Given the description of an element on the screen output the (x, y) to click on. 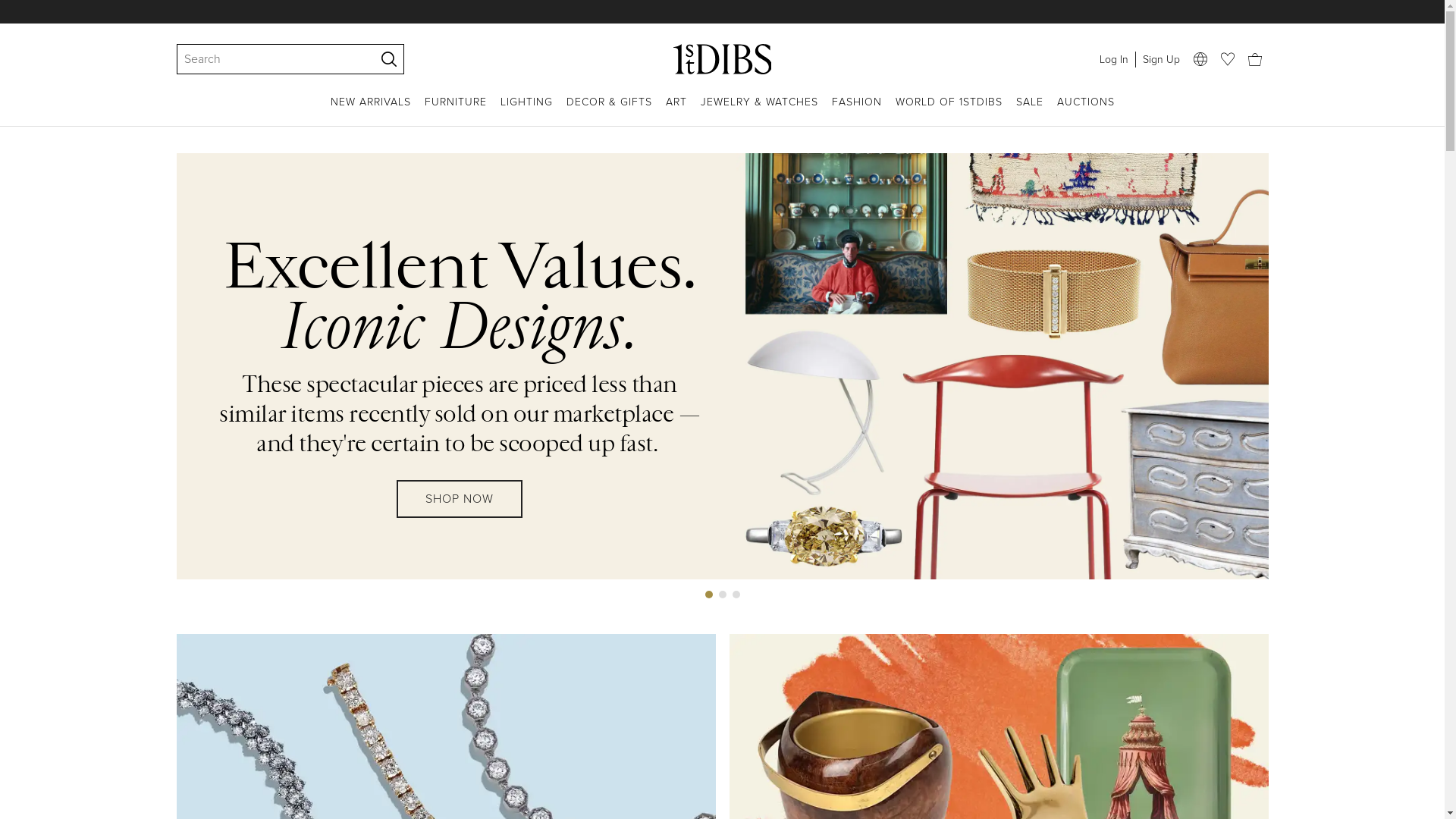
SKIP TO MAIN CONTENT Element type: text (6, 6)
Sign Up Element type: text (1160, 59)
ART Element type: text (676, 109)
Search Element type: hover (268, 58)
DECOR & GIFTS Element type: text (608, 109)
SALE Element type: text (1029, 109)
JEWELRY & WATCHES Element type: text (759, 109)
AUCTIONS Element type: text (1085, 109)
SHOP NOW Element type: text (459, 512)
WORLD OF 1STDIBS Element type: text (947, 109)
NEW ARRIVALS Element type: text (370, 109)
Log In Element type: text (1113, 59)
FURNITURE Element type: text (455, 109)
LIGHTING Element type: text (526, 109)
FASHION Element type: text (856, 109)
